Given the description of an element on the screen output the (x, y) to click on. 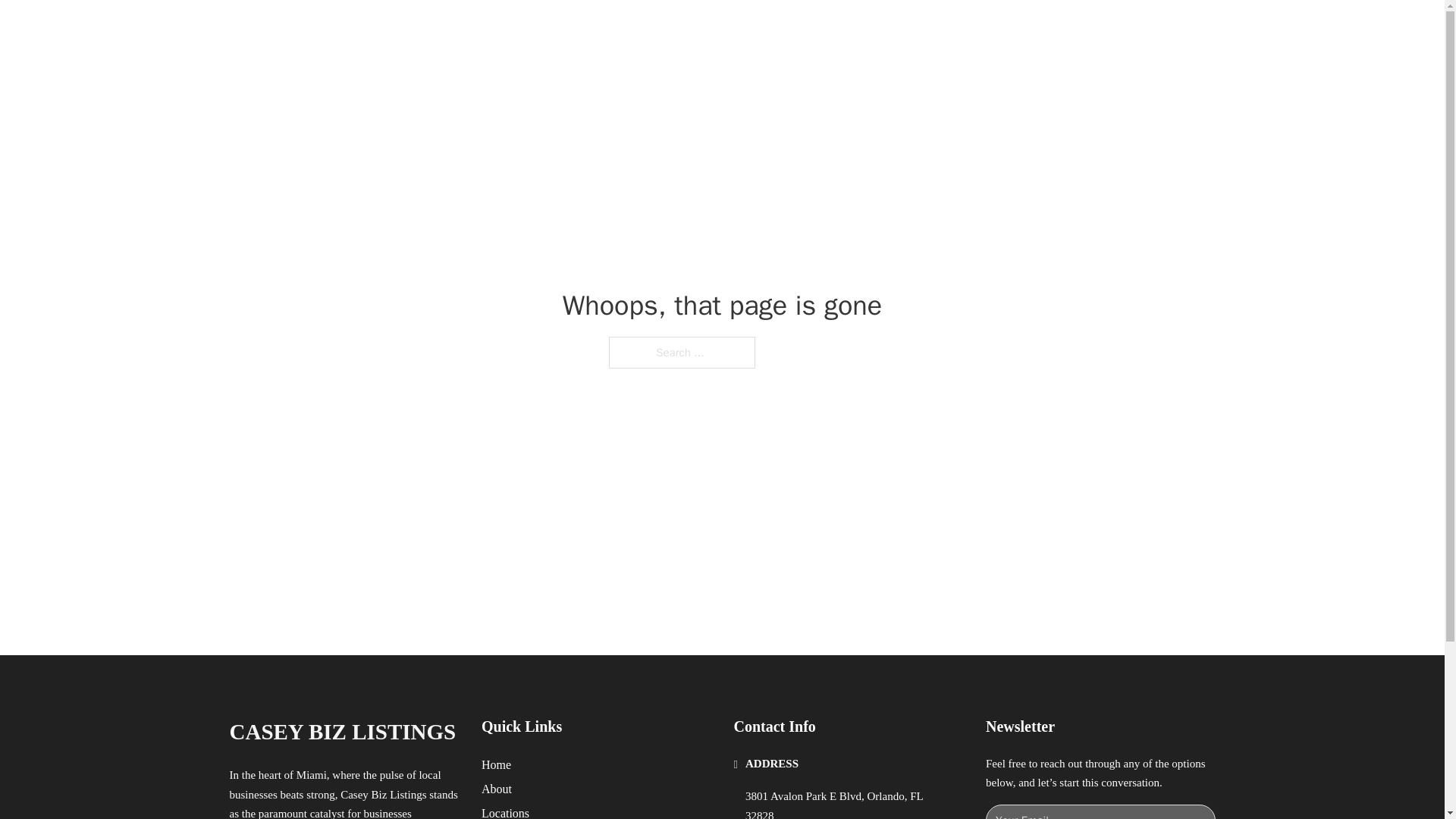
Locations (505, 811)
CASEY BIZ LISTINGS (341, 732)
About (496, 788)
CASEY BIZ LISTINGS (411, 28)
Home (496, 764)
